Given the description of an element on the screen output the (x, y) to click on. 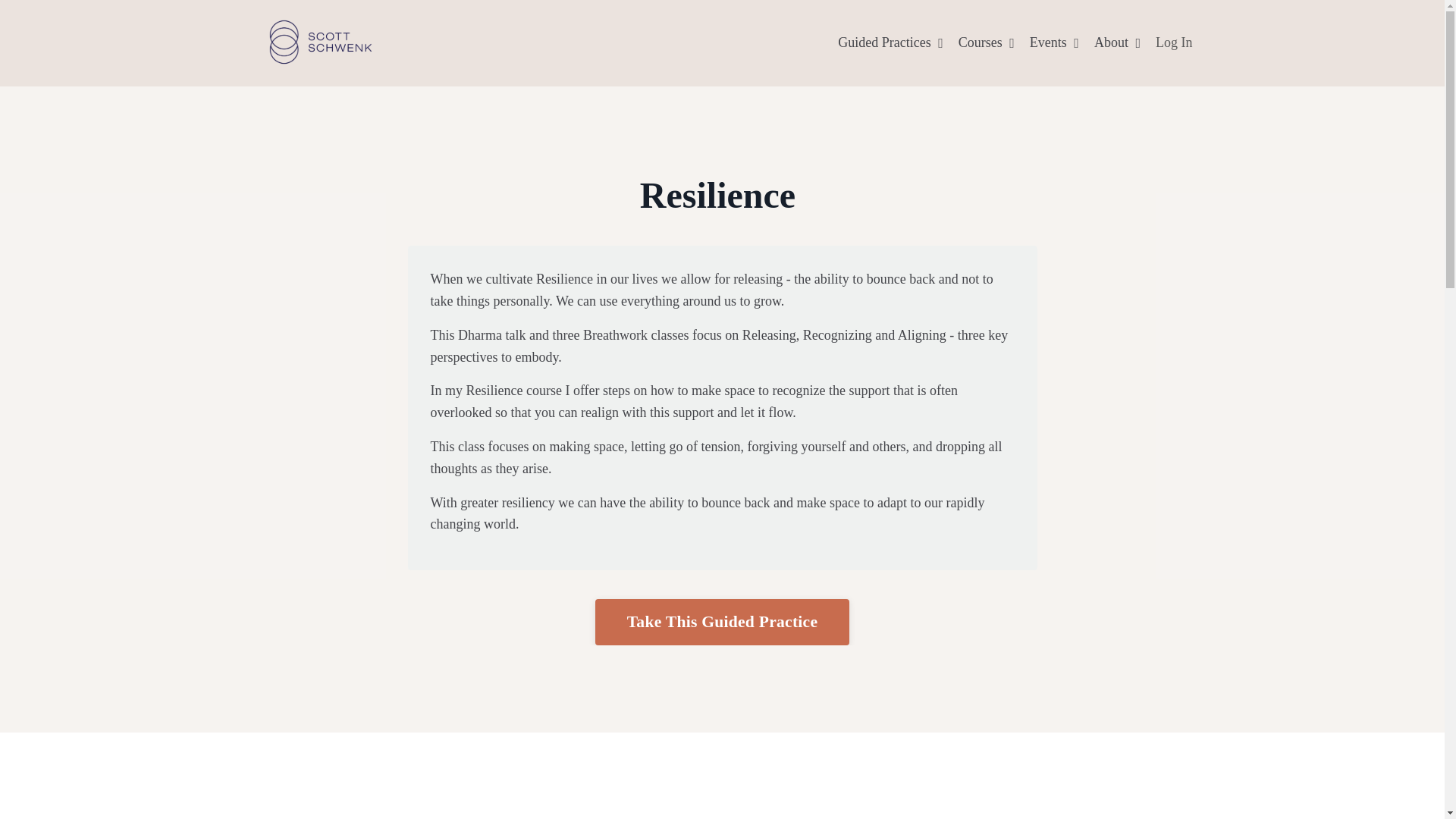
Guided Practices (890, 42)
About (1117, 42)
Take This Guided Practice (722, 621)
Log In (1174, 42)
Courses (986, 42)
Events (1053, 42)
